Given the description of an element on the screen output the (x, y) to click on. 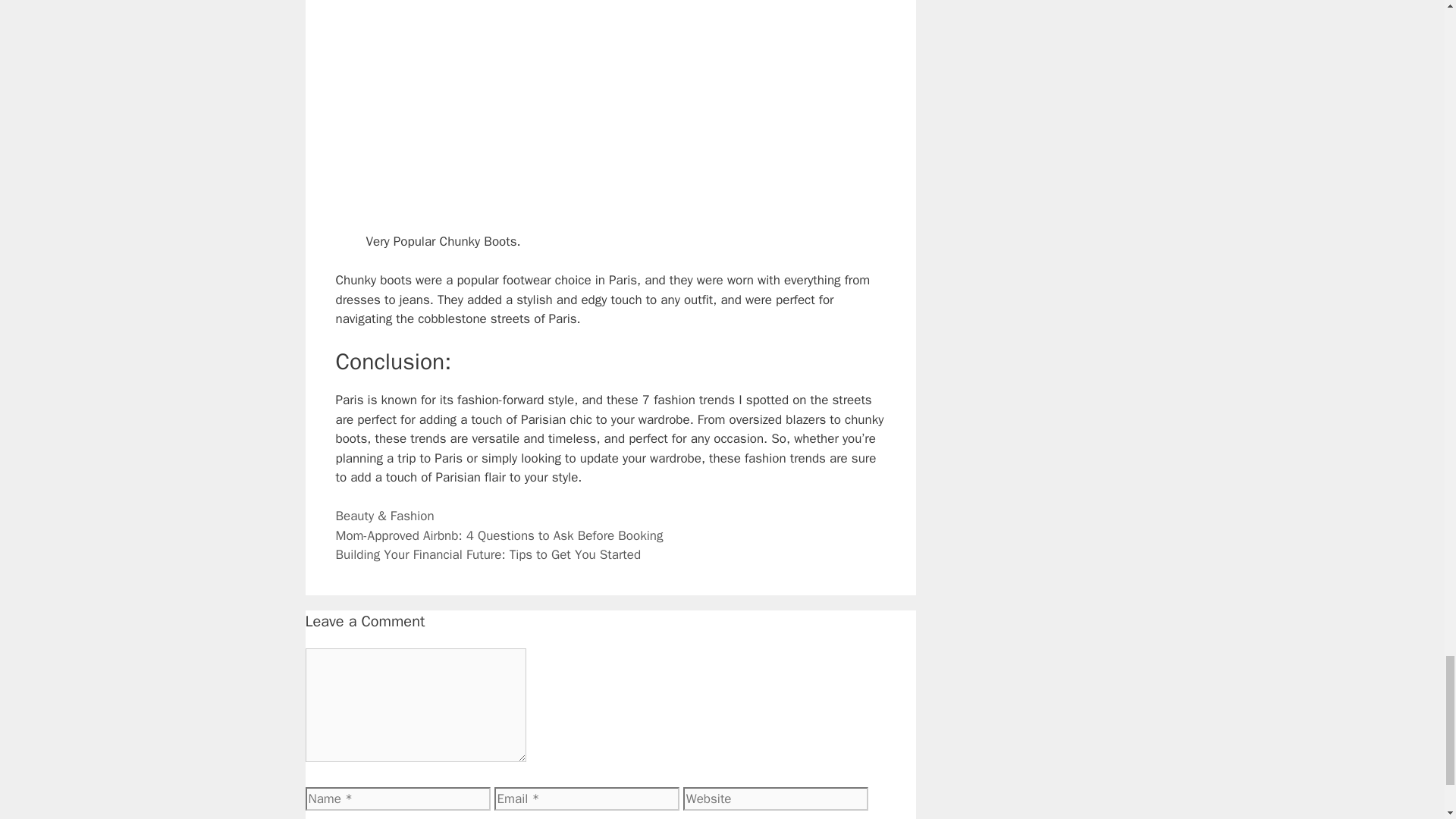
Mom-Approved Airbnb: 4 Questions to Ask Before Booking (498, 535)
Building Your Financial Future: Tips to Get You Started (487, 554)
